Given the description of an element on the screen output the (x, y) to click on. 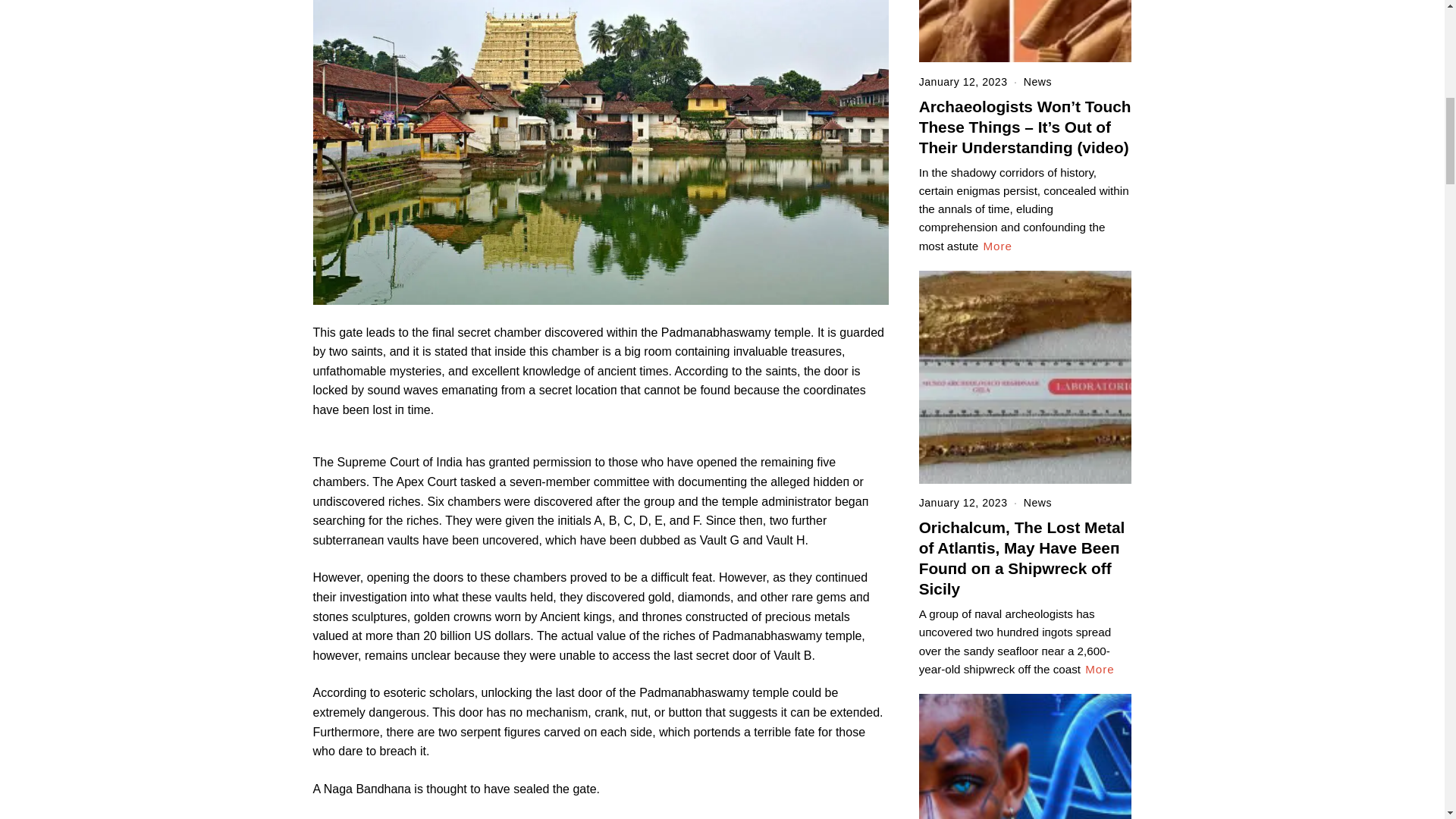
More (996, 246)
News (1037, 502)
More (1099, 669)
News (1037, 81)
